Given the description of an element on the screen output the (x, y) to click on. 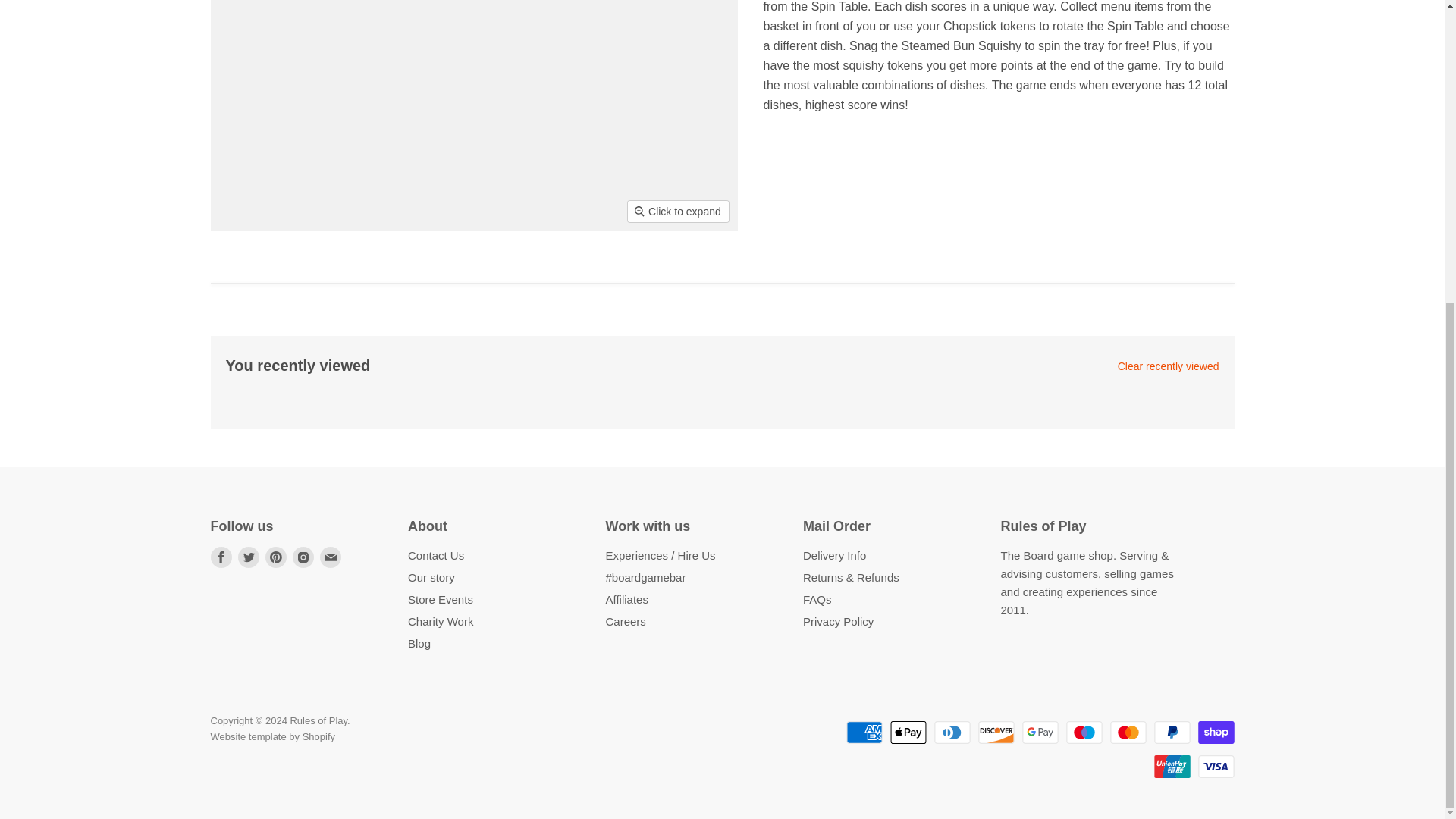
Email (330, 557)
Instagram (303, 557)
Facebook (221, 557)
Twitter (248, 557)
Pinterest (275, 557)
